Given the description of an element on the screen output the (x, y) to click on. 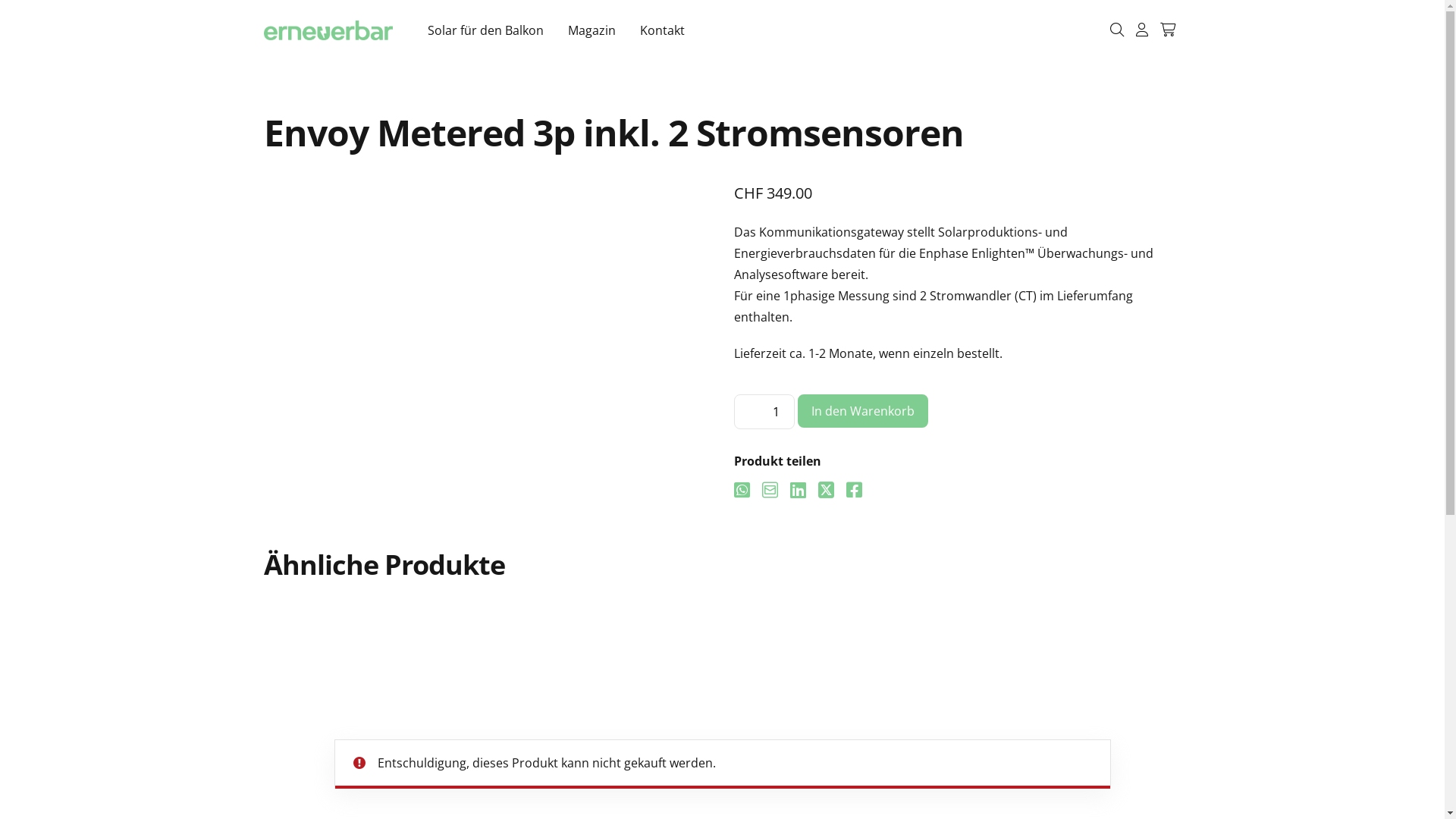
Kontakt Element type: text (661, 30)
In den Warenkorb Element type: text (862, 410)
Magazin Element type: text (591, 30)
